Given the description of an element on the screen output the (x, y) to click on. 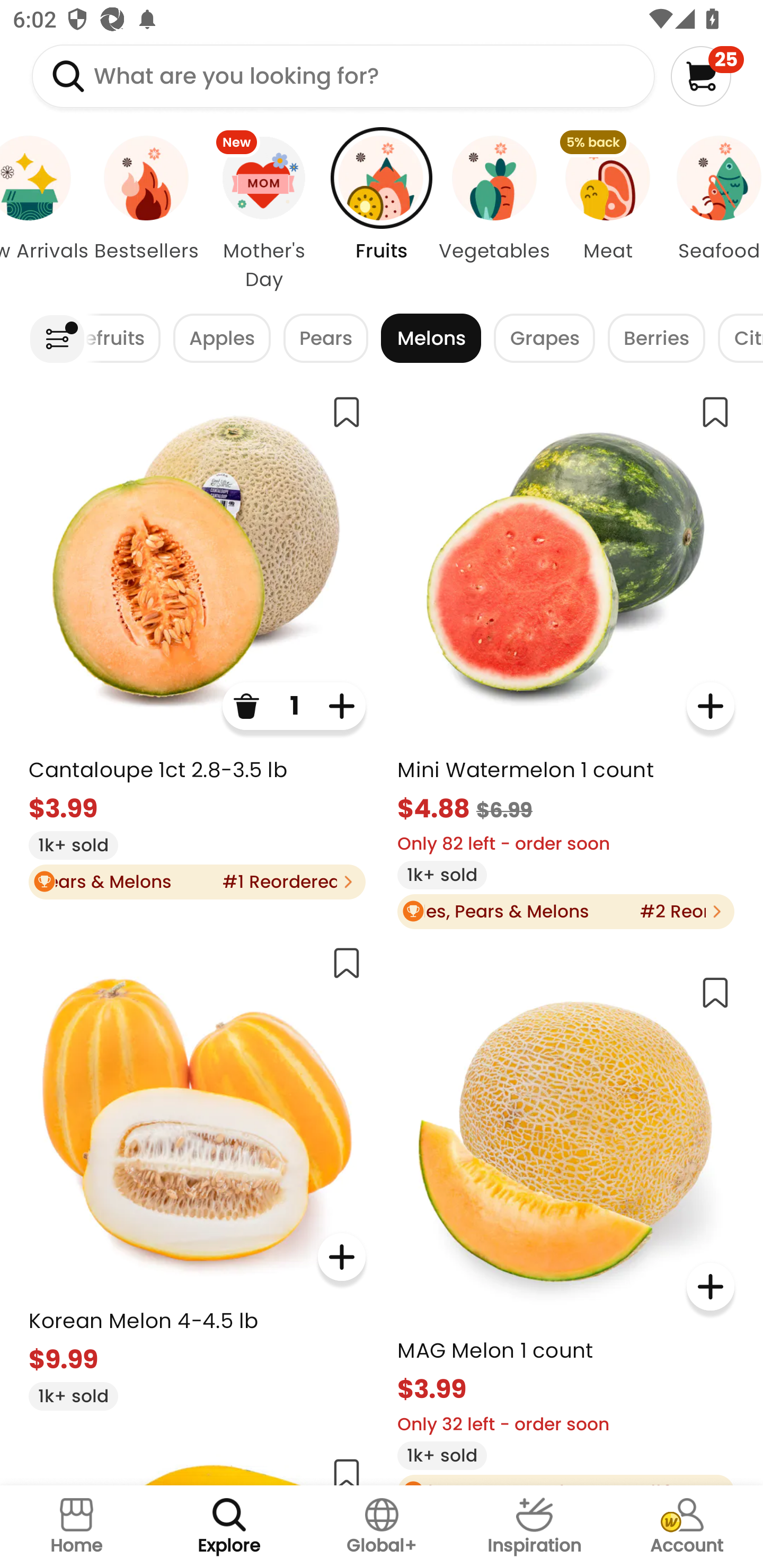
What are you looking for? (343, 75)
25 (706, 75)
New Arrivals (45, 214)
Bestsellers (146, 214)
New Mother's Day (263, 214)
Fruits (381, 214)
Vegetables (494, 214)
5% back Meat (607, 214)
Seafood (713, 214)
Stonefruits (122, 337)
Apples (221, 337)
Pears (325, 337)
Melons (430, 337)
Grapes (544, 337)
Berries (656, 337)
Korean Melon 4-4.5 lb $9.99 1k+ sold (197, 1171)
Home (76, 1526)
Explore (228, 1526)
Global+ (381, 1526)
Inspiration (533, 1526)
Account (686, 1526)
